Given the description of an element on the screen output the (x, y) to click on. 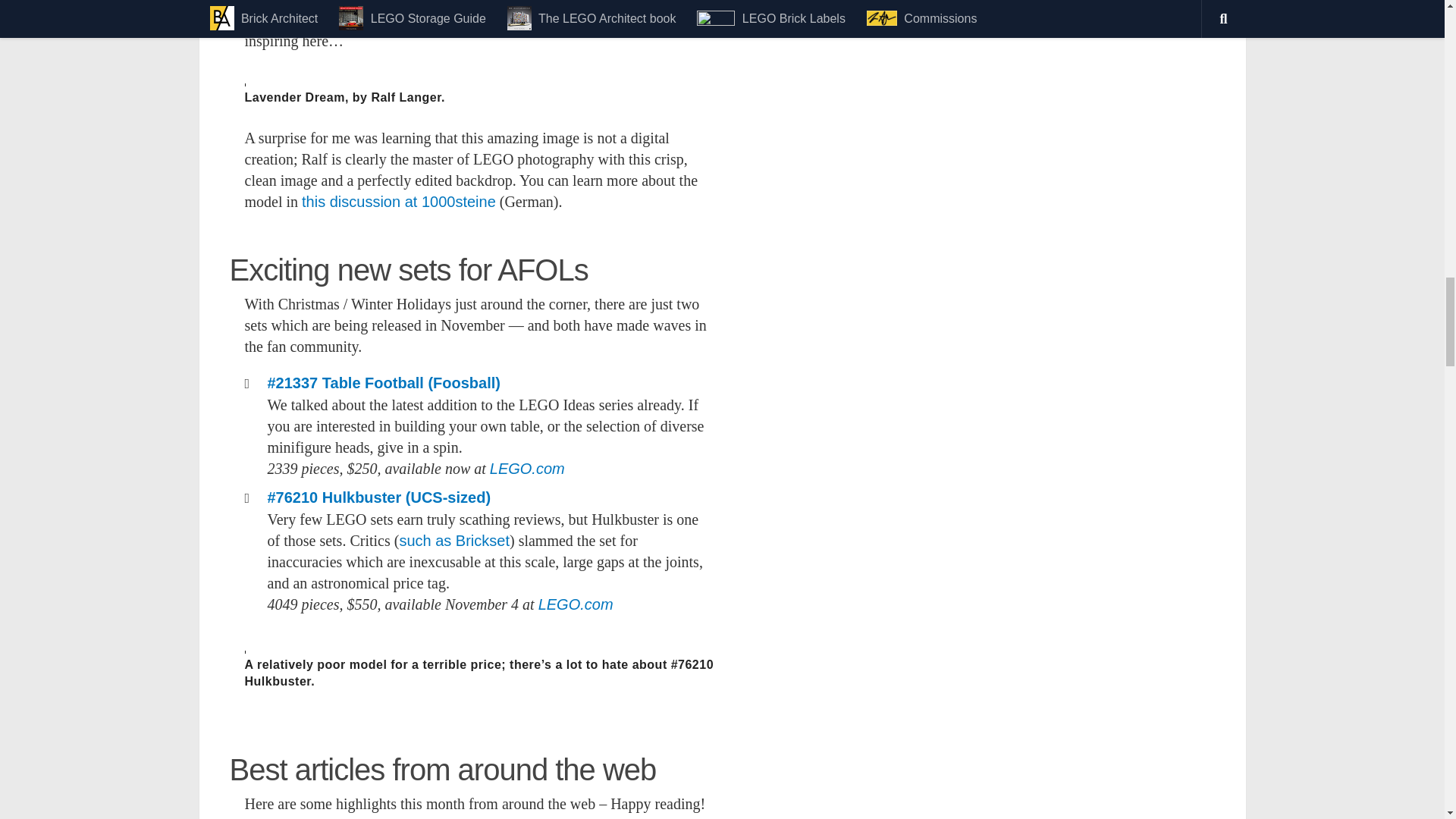
such as Brickset (453, 540)
LEGO.com (526, 468)
this discussion at 1000steine (398, 201)
